Given the description of an element on the screen output the (x, y) to click on. 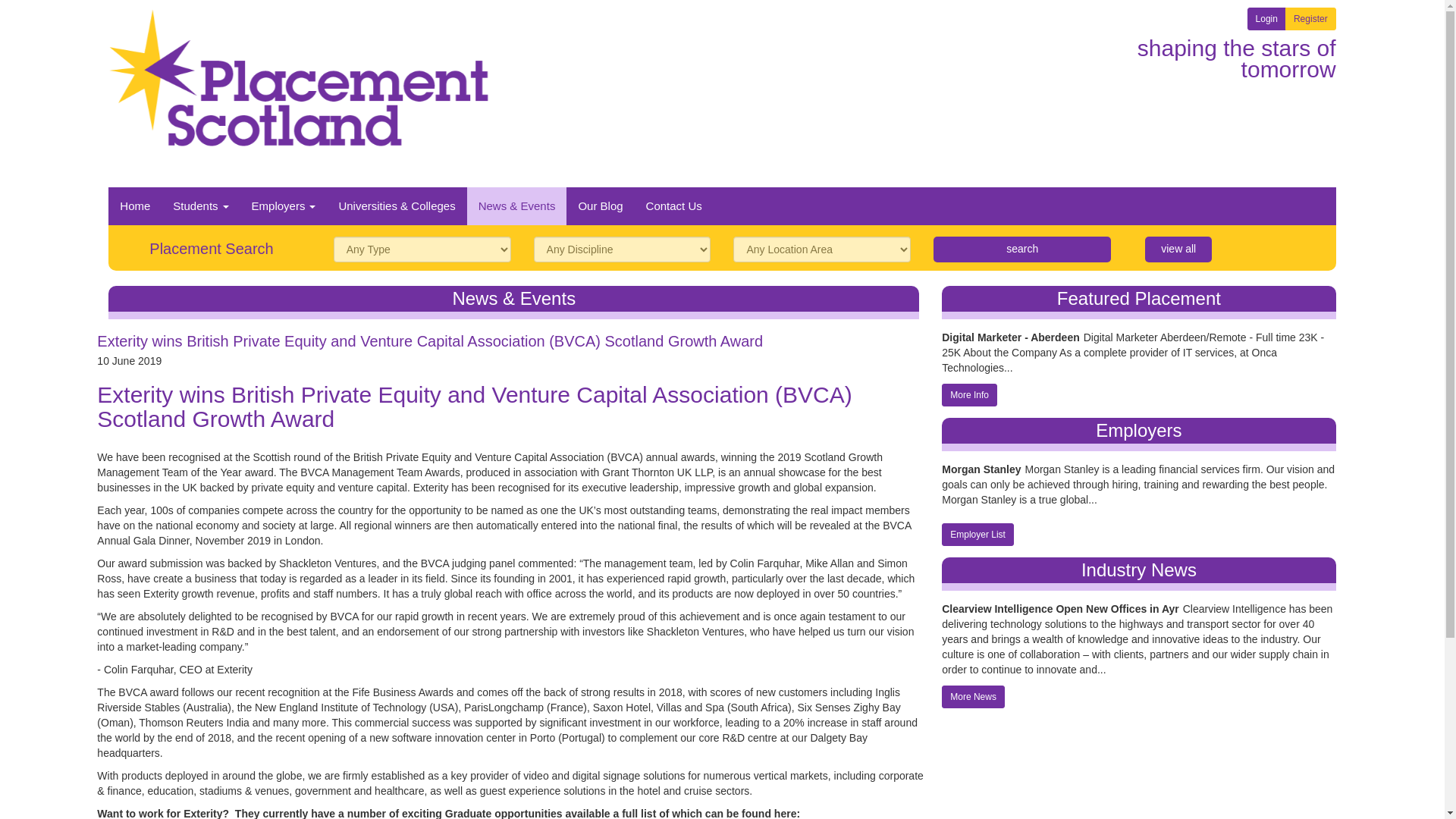
More News (973, 598)
Back (903, 810)
Morgan Stanley (981, 371)
See all (1177, 149)
view all (1177, 149)
Digital Marketer - Aberdeen (1011, 237)
Search (1021, 149)
Clearview Intelligence Open New Offices in Ayr (1060, 510)
Students (200, 106)
Employer List (977, 435)
Search (1021, 149)
Home (134, 106)
Search (1021, 149)
Contact Us (673, 106)
More Info (969, 295)
